Given the description of an element on the screen output the (x, y) to click on. 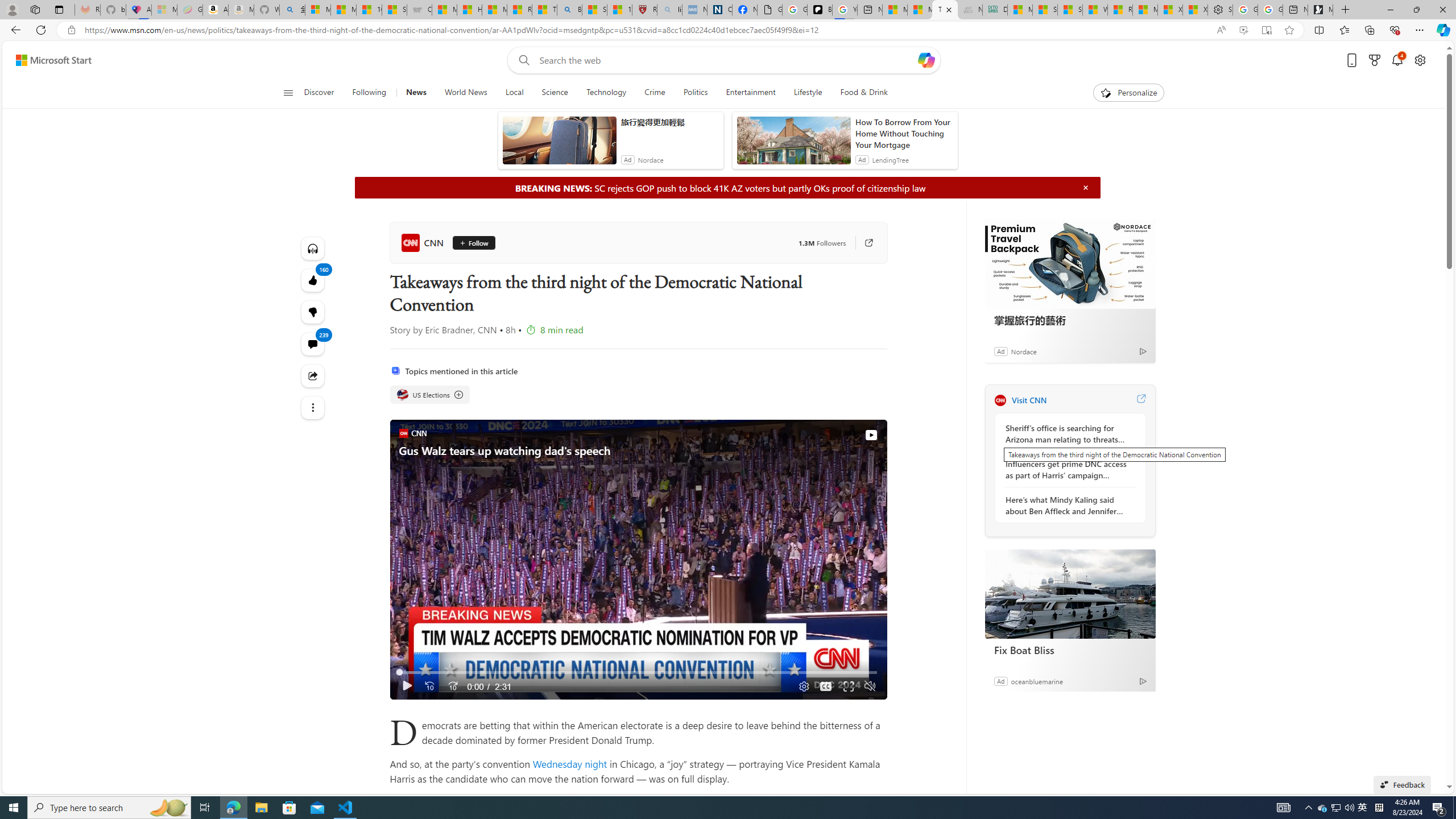
Class: button-glyph (287, 92)
list of asthma inhalers uk - Search - Sleeping (669, 9)
anim-content (793, 144)
News (416, 92)
US Elections (401, 394)
oceanbluemarine (1036, 681)
Skip to footer (46, 59)
160 (312, 312)
Food & Drink (859, 92)
Skip to content (49, 59)
Lifestyle (807, 92)
Politics (694, 92)
